Given the description of an element on the screen output the (x, y) to click on. 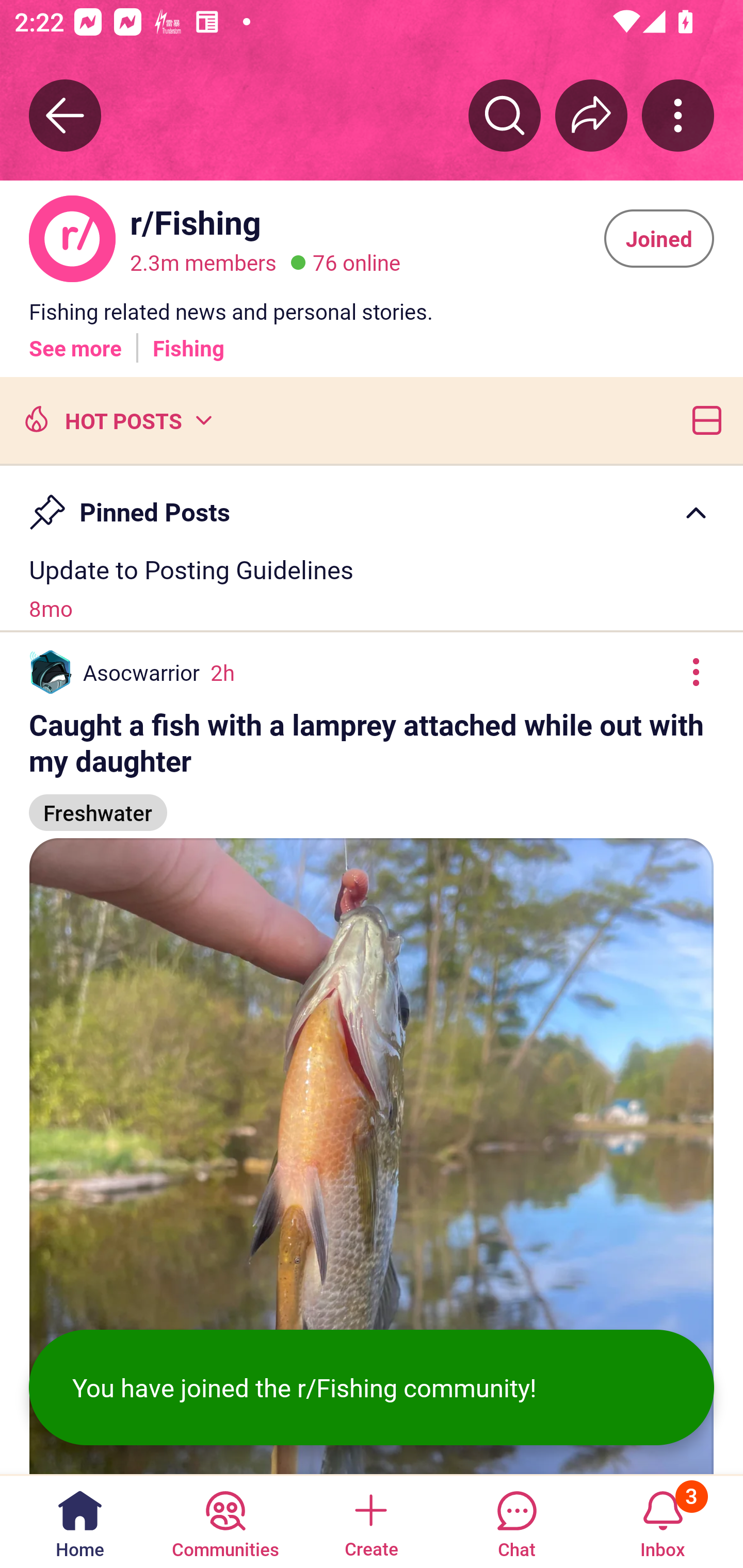
Back (64, 115)
Search r/﻿Fishing (504, 115)
Share r/﻿Fishing (591, 115)
More community actions (677, 115)
Hot posts HOT POSTS (116, 419)
Card (703, 419)
Pin Pinned Posts Caret (371, 503)
Update to Posting Guidelines 8mo (371, 587)
Freshwater (97, 803)
Home (80, 1520)
Communities (225, 1520)
Create a post Create (370, 1520)
Chat (516, 1520)
Inbox, has 3 notifications 3 Inbox (662, 1520)
